Given the description of an element on the screen output the (x, y) to click on. 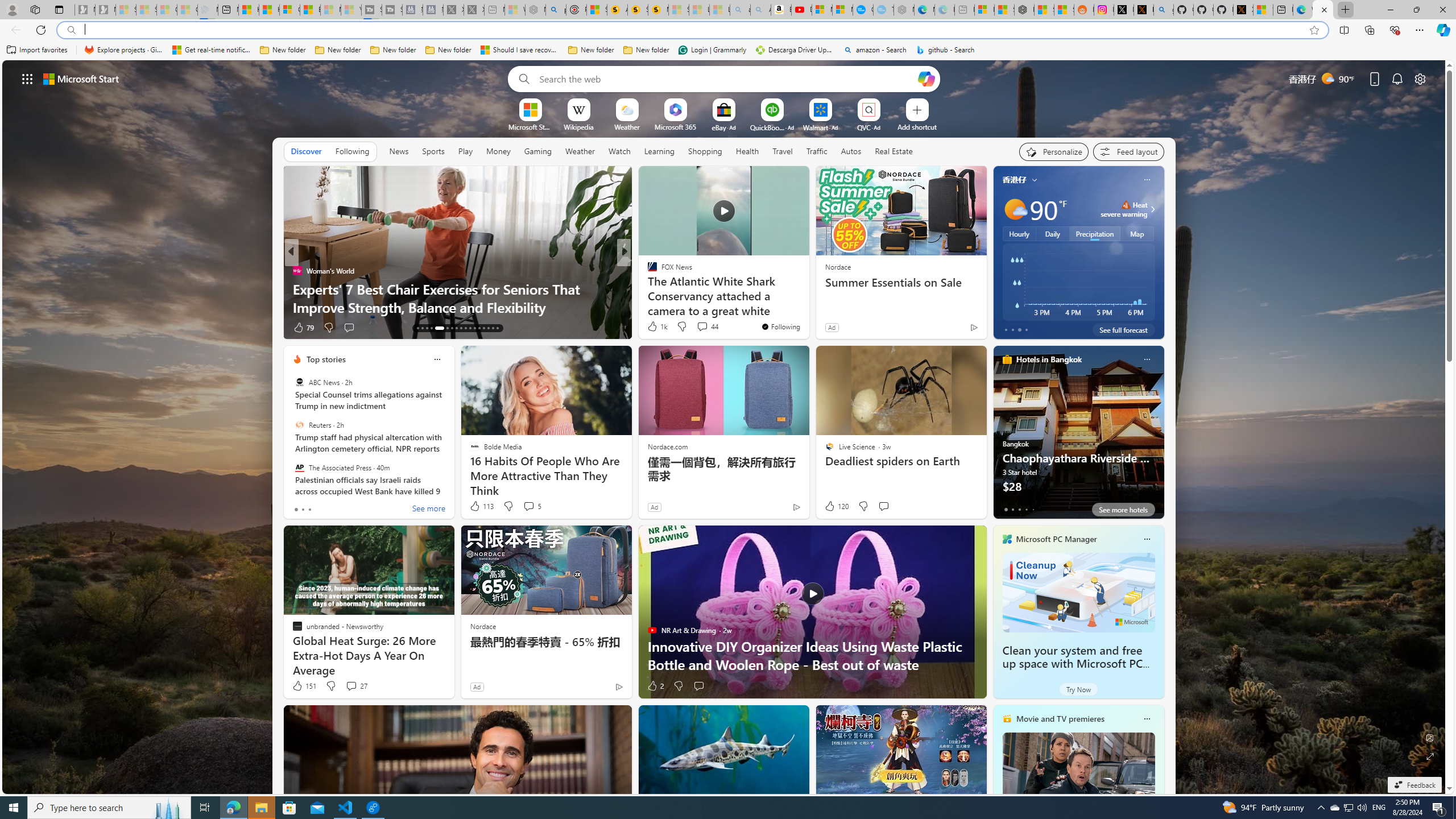
Learning (659, 151)
Nordace.com (667, 446)
Weather (580, 151)
Watch (619, 151)
Travel (782, 151)
You're following The Weather Channel (949, 329)
Tab actions menu (58, 9)
tab-0 (1005, 509)
634 Like (654, 327)
2 Like (655, 685)
Restore (1416, 9)
Open Copilot (926, 78)
Streaming Coverage | T3 - Sleeping (371, 9)
